Given the description of an element on the screen output the (x, y) to click on. 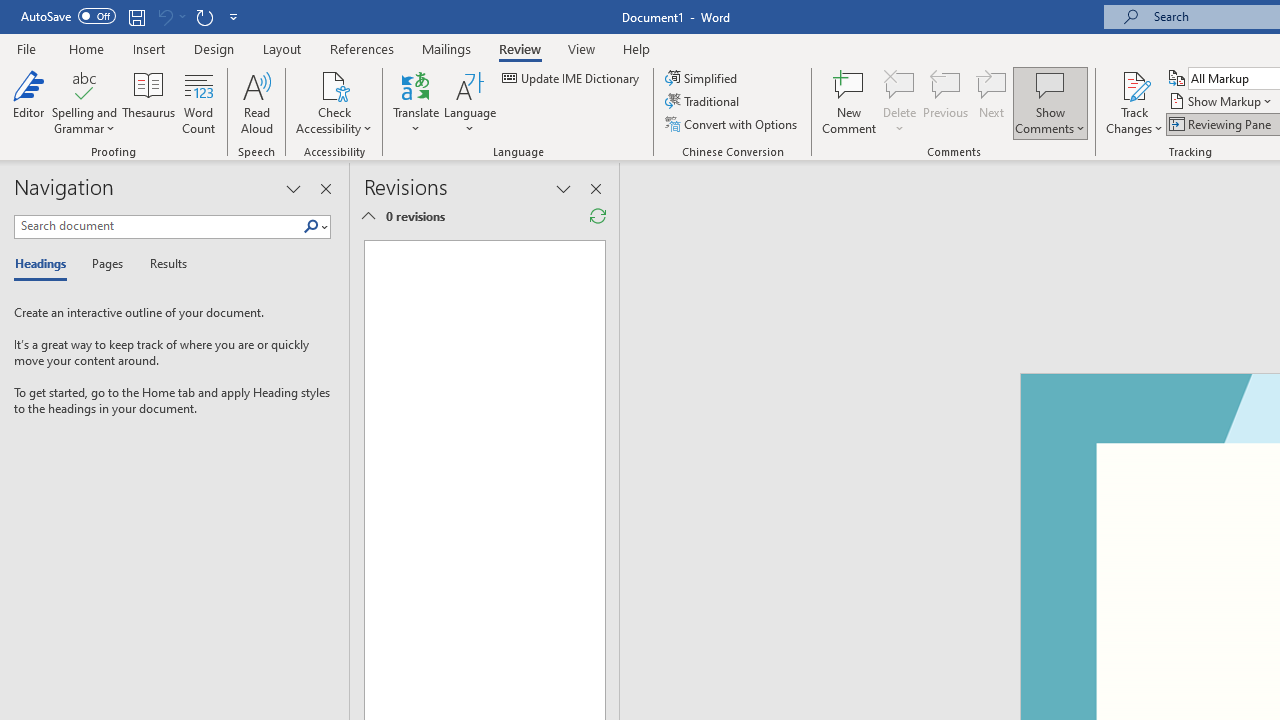
Show Detailed Summary (368, 215)
Results (161, 264)
Translate (415, 102)
Previous (946, 102)
Delete (900, 84)
New Comment (849, 102)
Can't Undo (164, 15)
Close pane (325, 188)
Show Comments (1050, 102)
Refresh Reviewing Pane (597, 215)
